Given the description of an element on the screen output the (x, y) to click on. 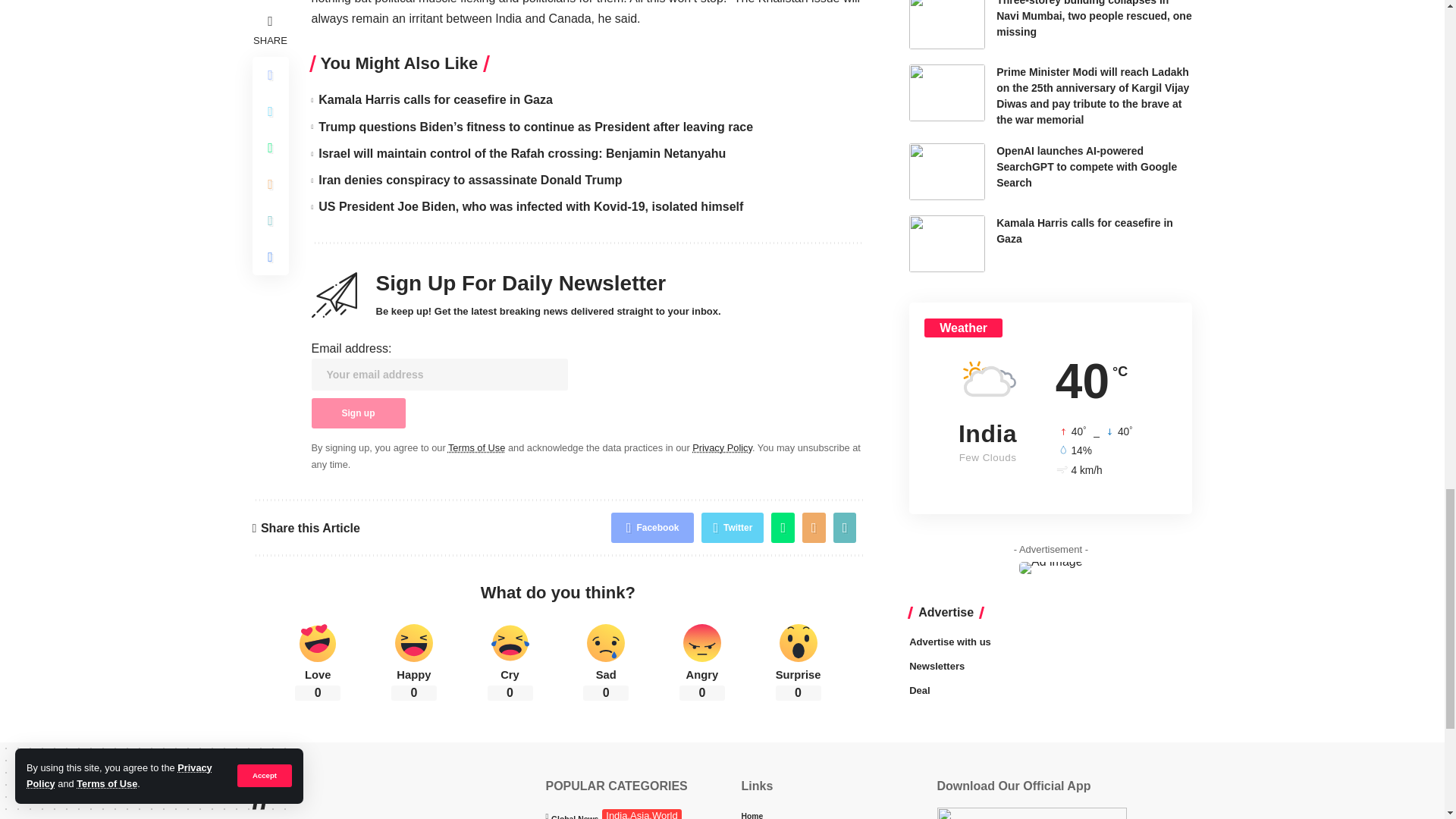
Sign up (357, 413)
